Given the description of an element on the screen output the (x, y) to click on. 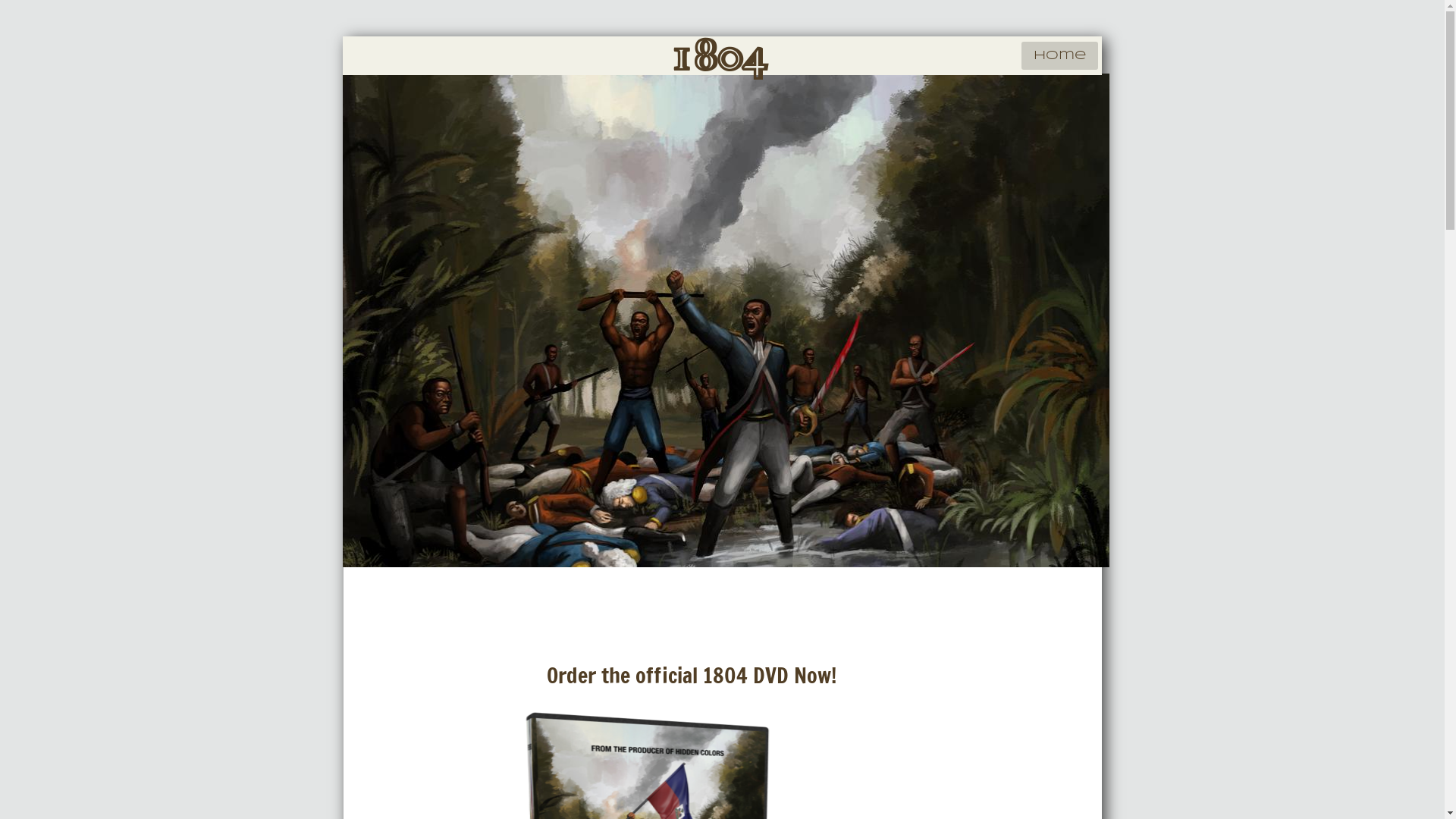
Home Element type: text (1058, 55)
